Given the description of an element on the screen output the (x, y) to click on. 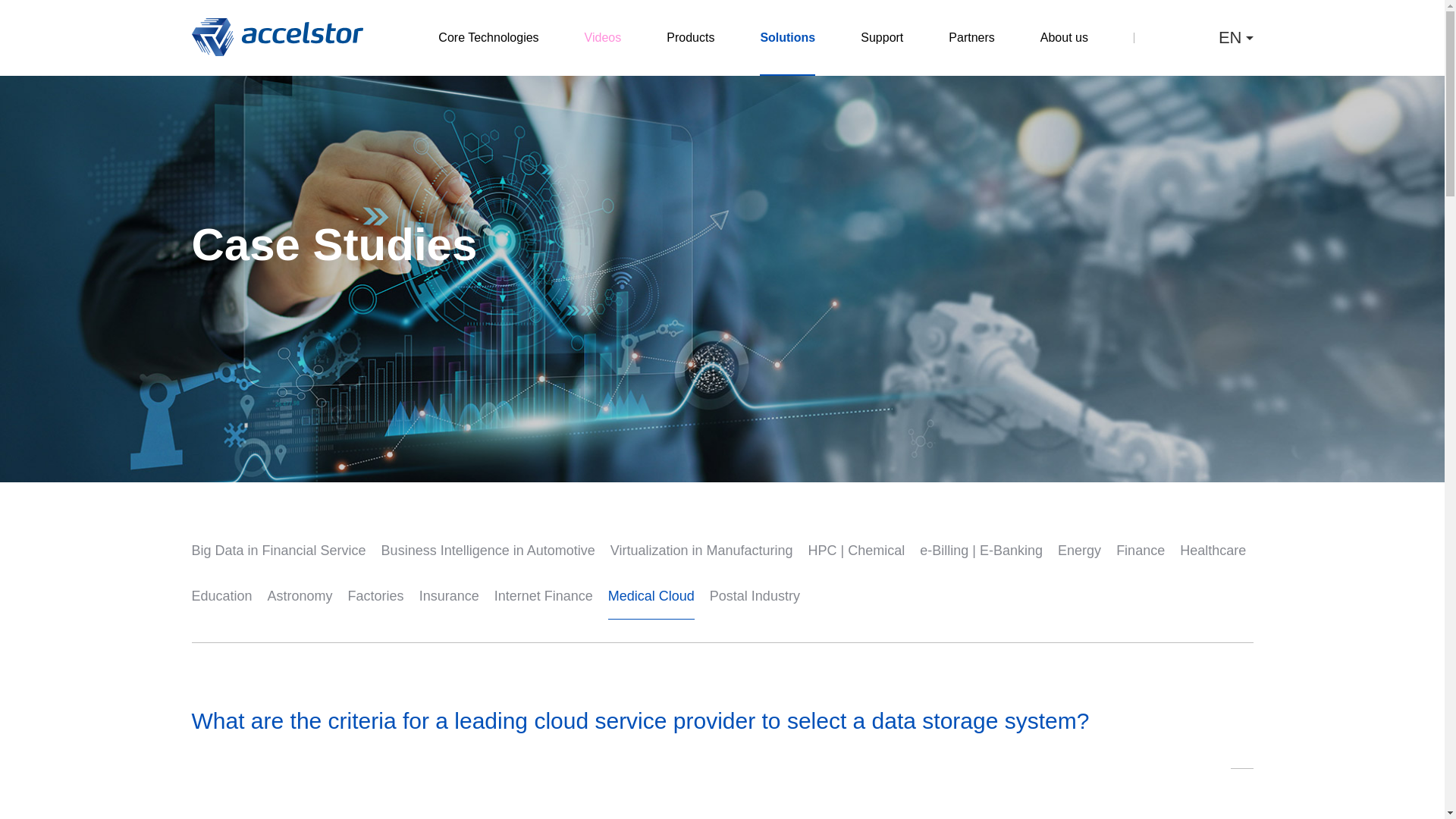
Core Technologies (488, 38)
Videos (603, 38)
Solutions (787, 38)
Products (690, 38)
